Given the description of an element on the screen output the (x, y) to click on. 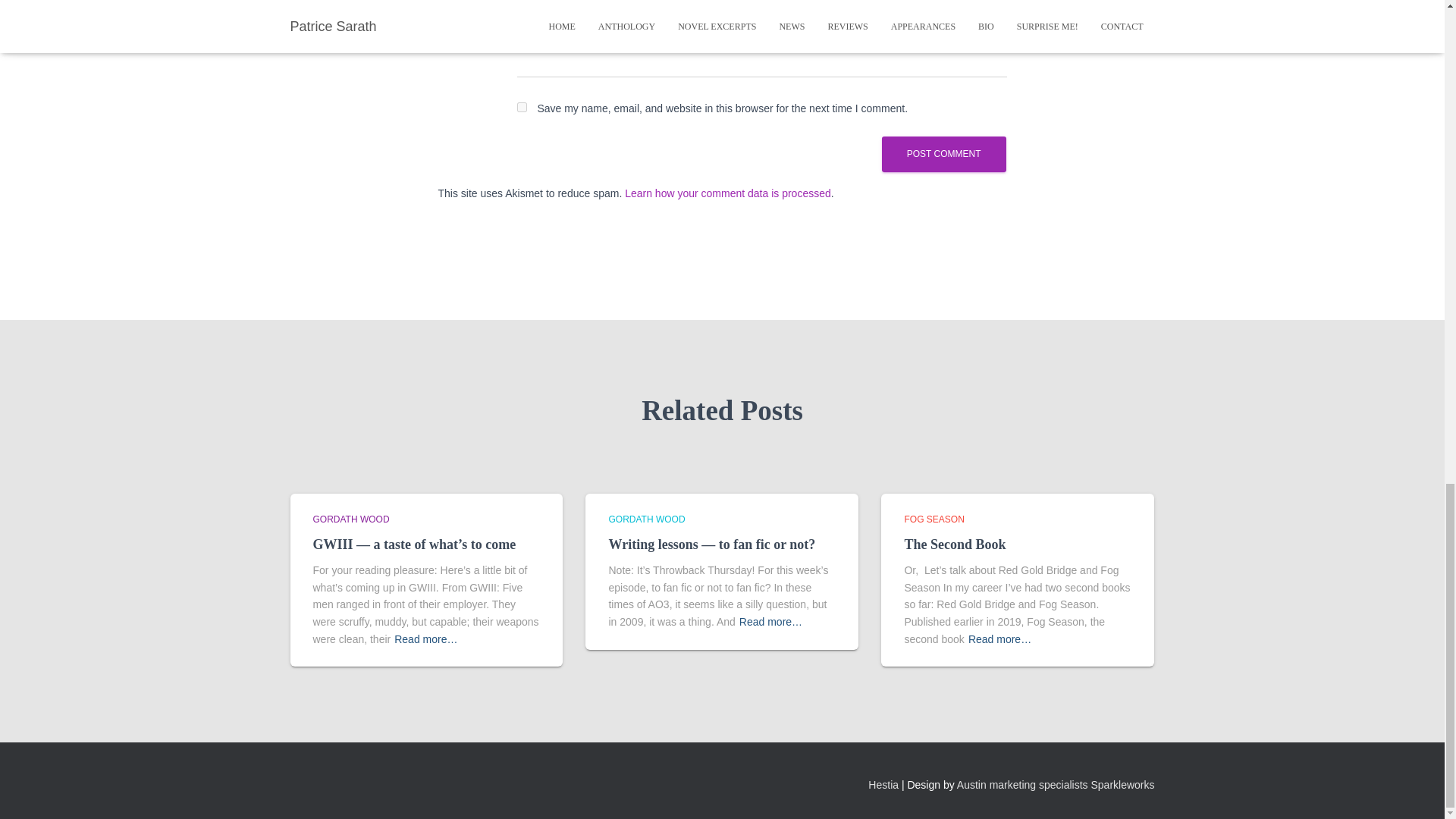
GORDATH WOOD (646, 519)
View all posts in Gordath Wood (646, 519)
yes (521, 107)
View all posts in Gordath Wood (350, 519)
GORDATH WOOD (350, 519)
The Second Book (955, 544)
FOG SEASON (933, 519)
Austin marketing specialists Sparkleworks (1055, 784)
Learn how your comment data is processed (727, 193)
Post Comment (944, 153)
Post Comment (944, 153)
Hestia (882, 784)
